Given the description of an element on the screen output the (x, y) to click on. 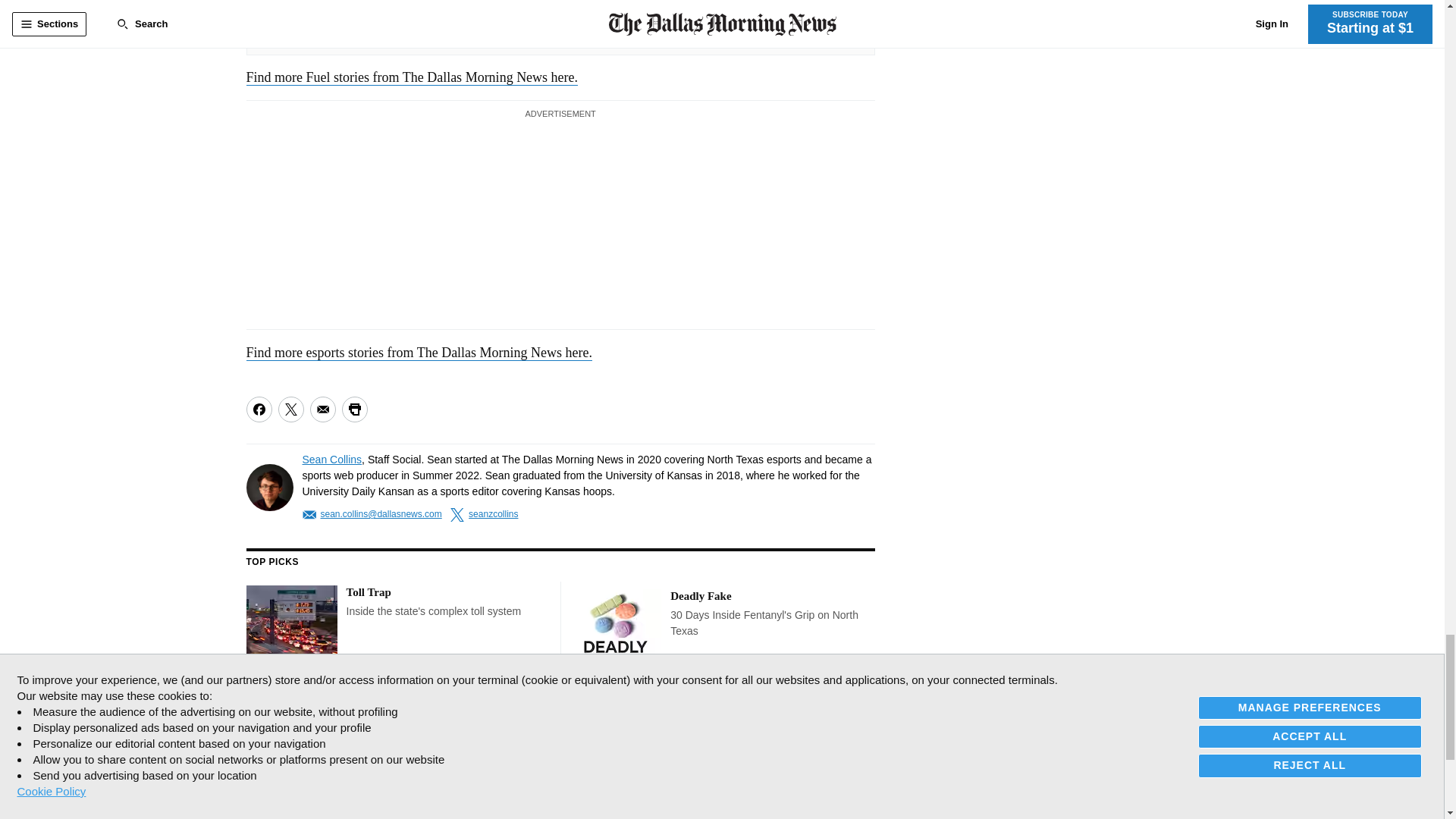
The Dallas Morning News on Facebook (259, 734)
Print (353, 409)
The Dallas Morning News on YouTube (365, 734)
Share via Email (321, 409)
The Dallas Morning News on Instagram (332, 734)
Share on Twitter (290, 409)
Share on Facebook (258, 409)
The Dallas Morning News on Twitter (293, 734)
